Given the description of an element on the screen output the (x, y) to click on. 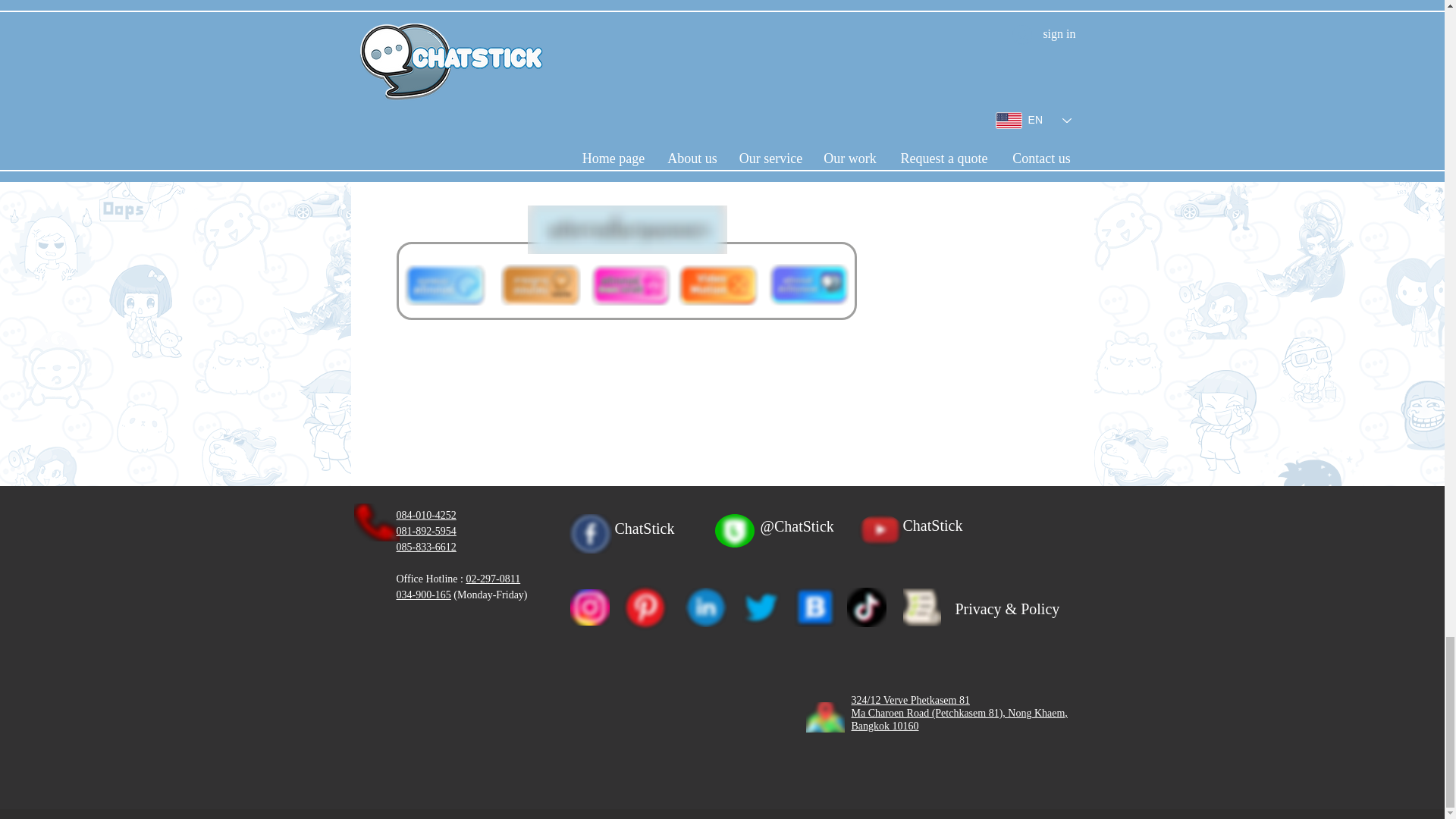
Facebook-icon.png (705, 607)
Privacy.png (921, 607)
Google Maps (575, 722)
Facebook-icon.png (590, 606)
Facebook-icon.png (759, 607)
Facebook-icon.png (590, 533)
Facebook-icon.png (865, 607)
Facebook-icon.png (814, 607)
Facebook-icon.png (644, 607)
